Given the description of an element on the screen output the (x, y) to click on. 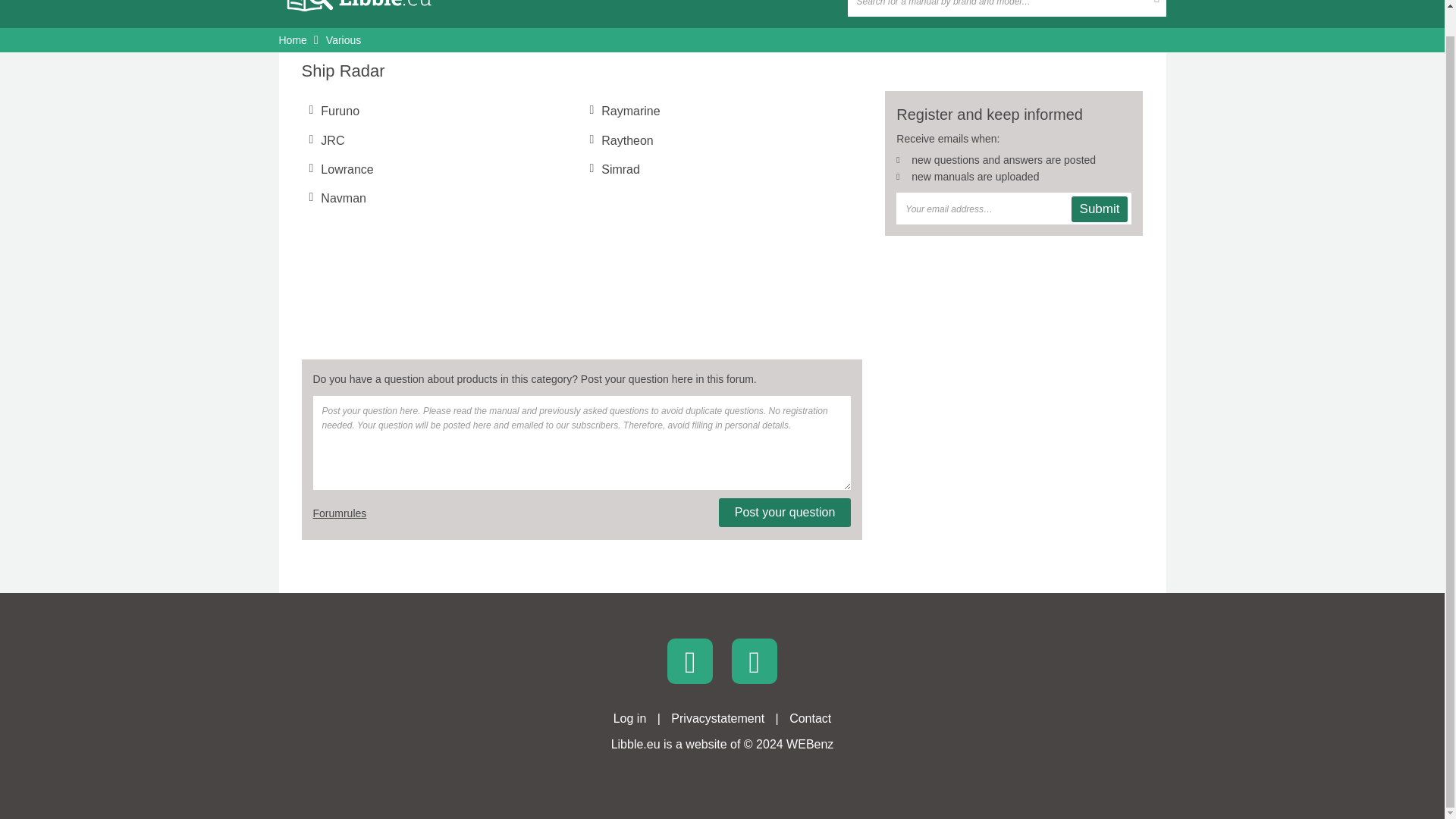
Raymarine (630, 110)
Post your question (785, 512)
Please read the forumrules here (339, 512)
Post your question (785, 512)
Furuno (339, 110)
Privacystatement (717, 718)
Various (343, 39)
Lowrance (346, 169)
Navman (343, 197)
Contact us (809, 718)
Home (293, 39)
Read our privacystatement (717, 718)
